Given the description of an element on the screen output the (x, y) to click on. 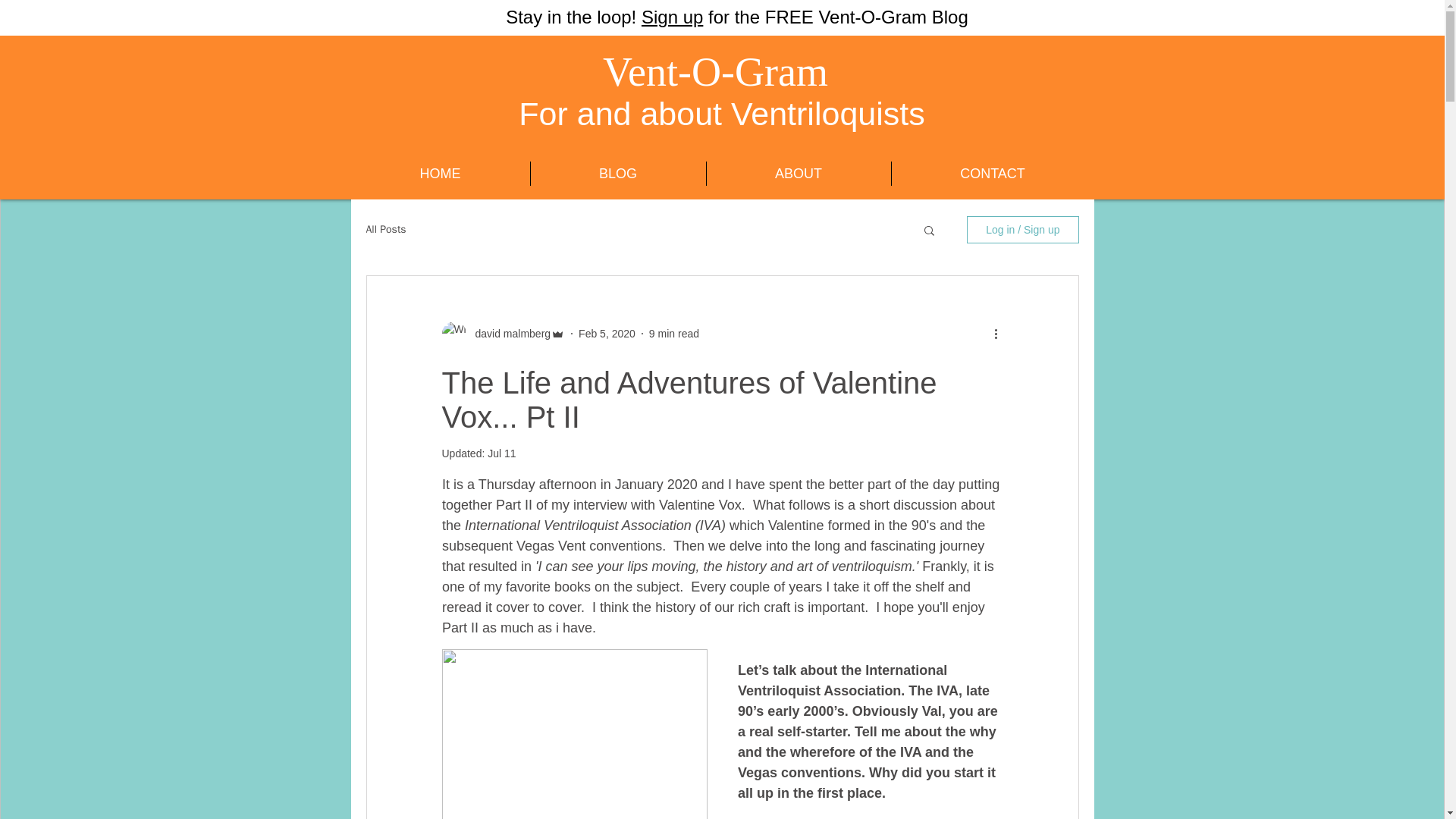
All Posts (385, 229)
Sign up (672, 16)
HOME (439, 173)
david malmberg (507, 333)
ABOUT (798, 173)
Jul 11 (501, 453)
Vent-O-Gram (715, 72)
Feb 5, 2020 (606, 333)
CONTACT (992, 173)
9 min read (673, 333)
